Given the description of an element on the screen output the (x, y) to click on. 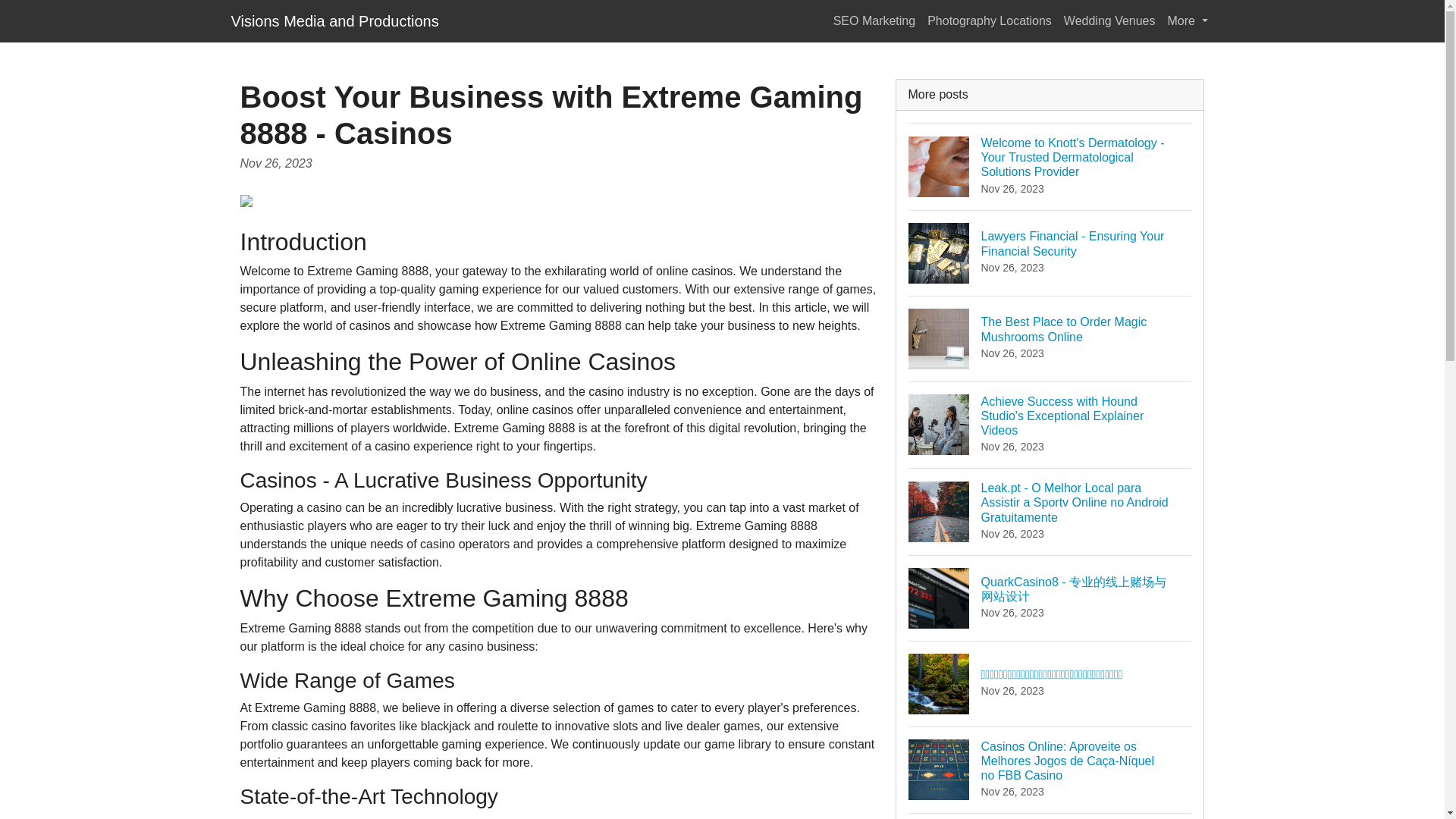
SEO Marketing (874, 20)
More (1187, 20)
Wedding Venues (1109, 20)
Photography Locations (989, 20)
Visions Media and Productions (1050, 338)
